Given the description of an element on the screen output the (x, y) to click on. 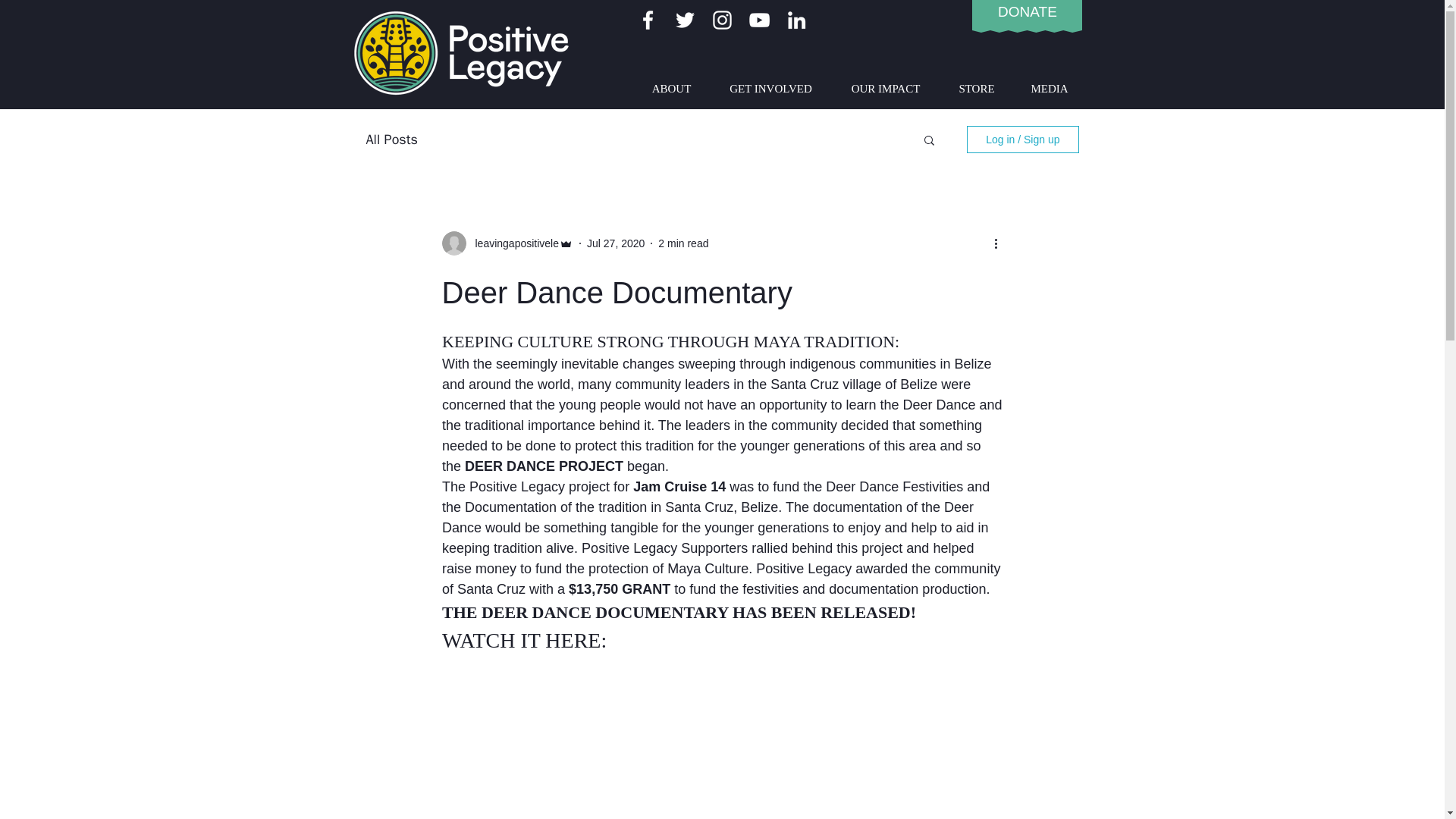
leavingapositivele (512, 242)
OUR IMPACT (885, 88)
All Posts (390, 139)
STORE (976, 88)
MEDIA (1048, 88)
ABOUT (670, 88)
Jul 27, 2020 (615, 242)
GET INVOLVED (770, 88)
DONATE (1027, 11)
2 min read (682, 242)
